Given the description of an element on the screen output the (x, y) to click on. 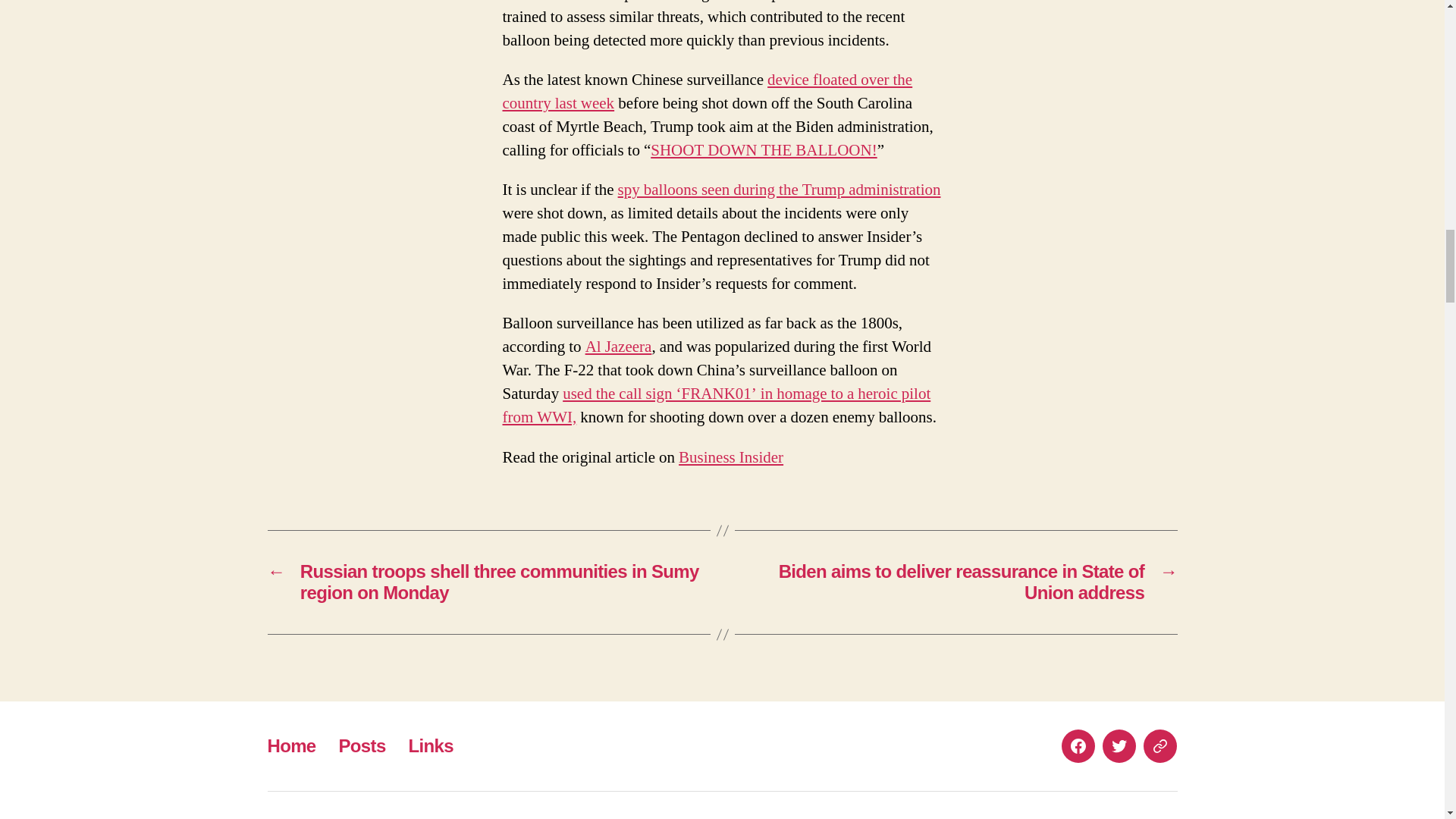
device floated over the country last week (707, 91)
SHOOT DOWN THE BALLOON! (763, 150)
